Given the description of an element on the screen output the (x, y) to click on. 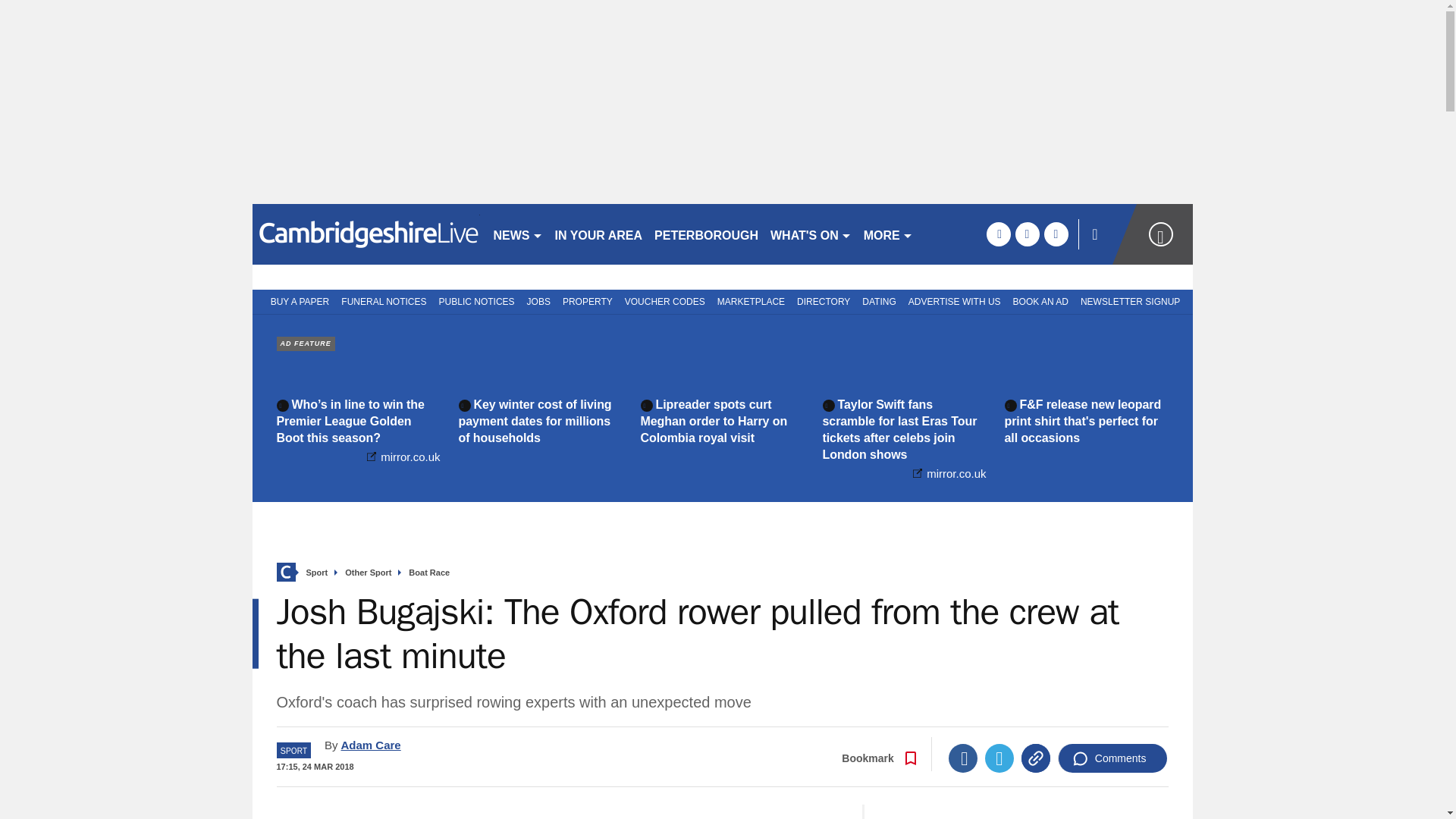
facebook (997, 233)
MORE (887, 233)
instagram (1055, 233)
PETERBOROUGH (705, 233)
Comments (1112, 758)
WHAT'S ON (810, 233)
Facebook (962, 758)
cambridgenews (365, 233)
IN YOUR AREA (598, 233)
Twitter (999, 758)
